Given the description of an element on the screen output the (x, y) to click on. 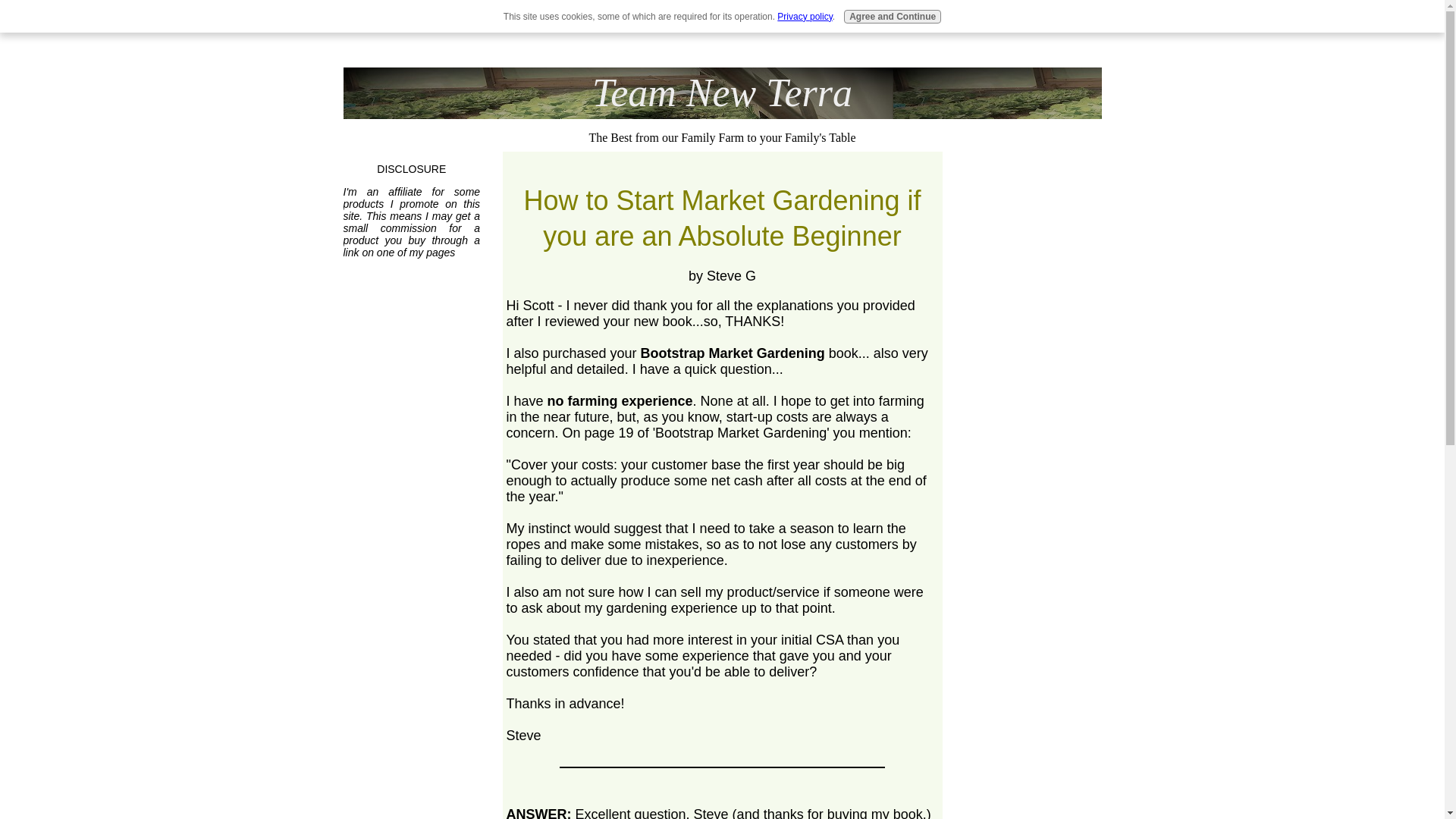
Agree and Continue (892, 16)
Privacy policy (804, 16)
Team New Terra (721, 92)
